Given the description of an element on the screen output the (x, y) to click on. 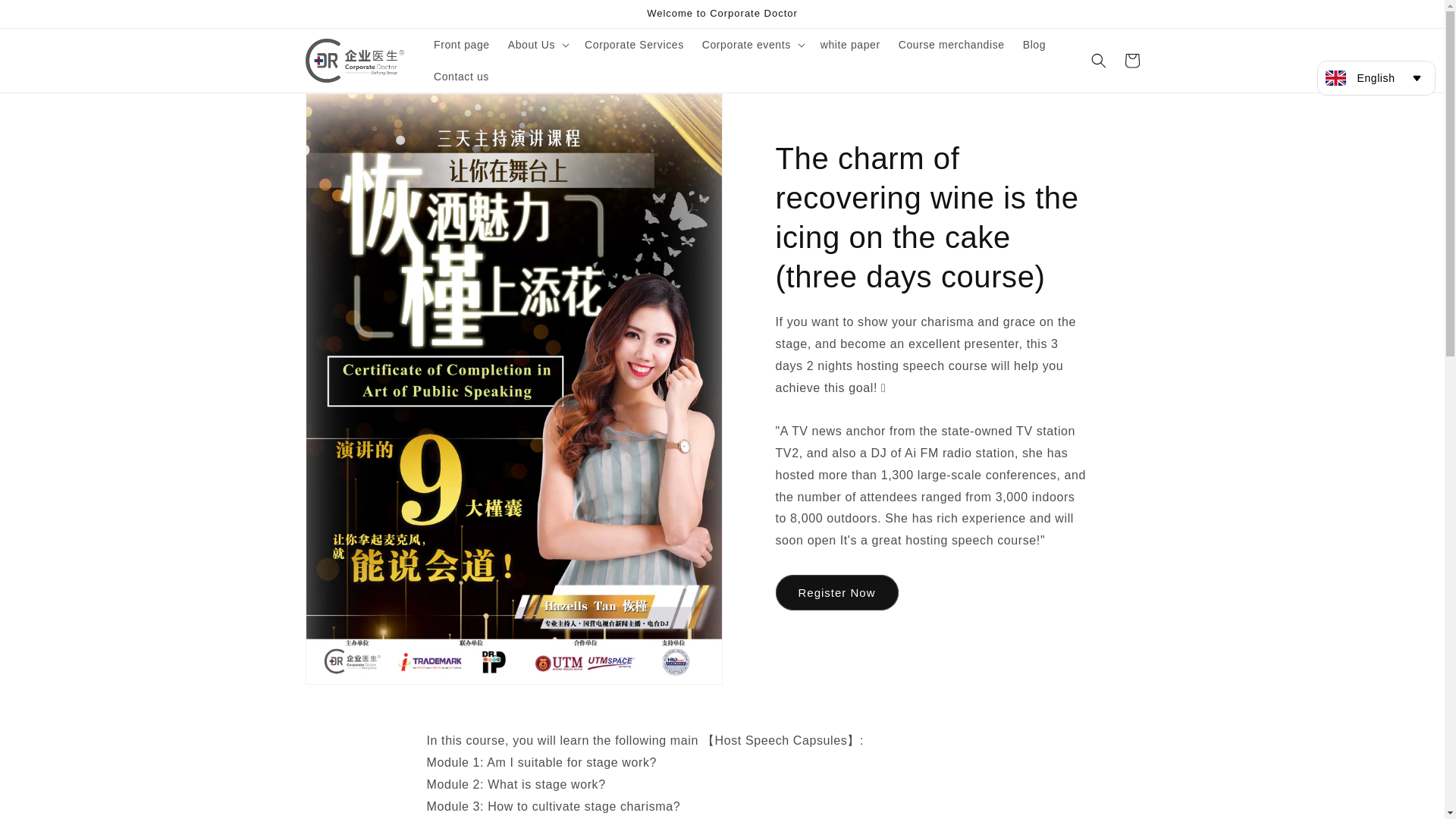
Blog (1033, 44)
Course merchandise (951, 44)
Contact us (461, 76)
Corporate Services (634, 44)
Skip to content (45, 17)
Cart (1131, 60)
Register Now (836, 592)
Front page (462, 44)
white paper (849, 44)
